Given the description of an element on the screen output the (x, y) to click on. 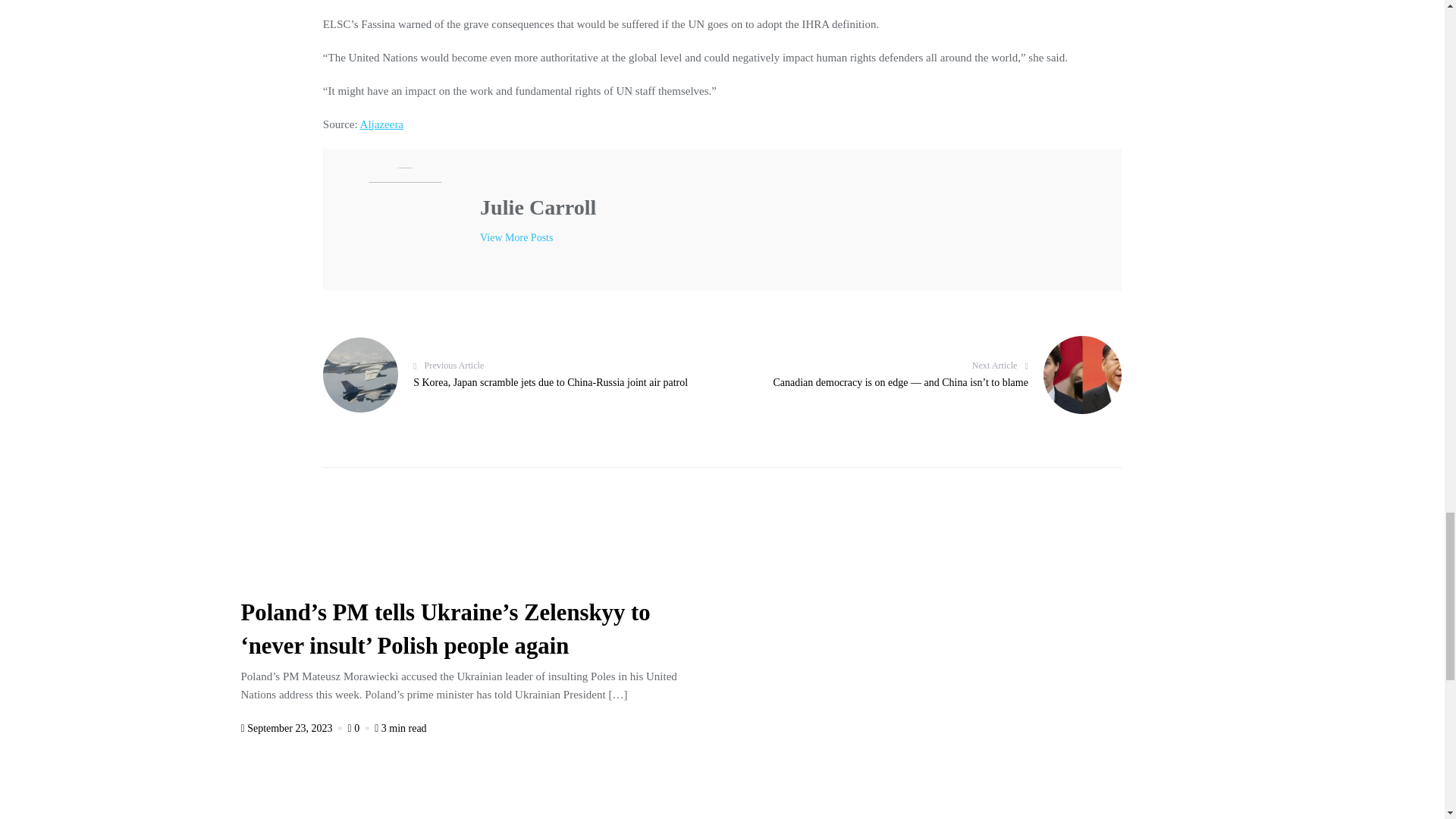
View More Posts (516, 237)
Aljazeera (381, 123)
September 23, 2023 (293, 727)
3 min read (400, 727)
0 (359, 727)
